Given the description of an element on the screen output the (x, y) to click on. 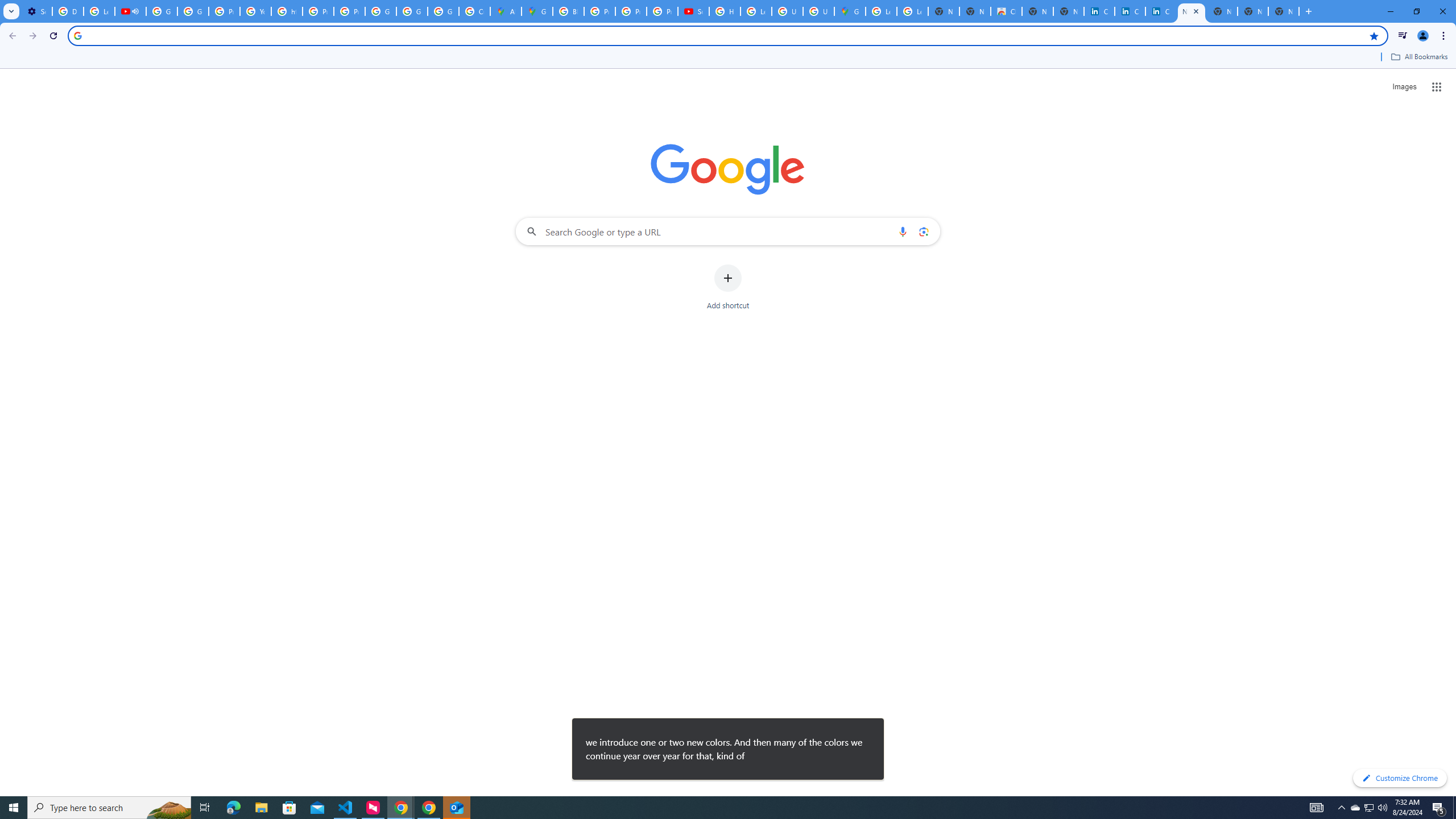
Copyright Policy (1160, 11)
Blogger Policies and Guidelines - Transparency Center (568, 11)
Create your Google Account (474, 11)
New Tab (1283, 11)
YouTube (255, 11)
